Given the description of an element on the screen output the (x, y) to click on. 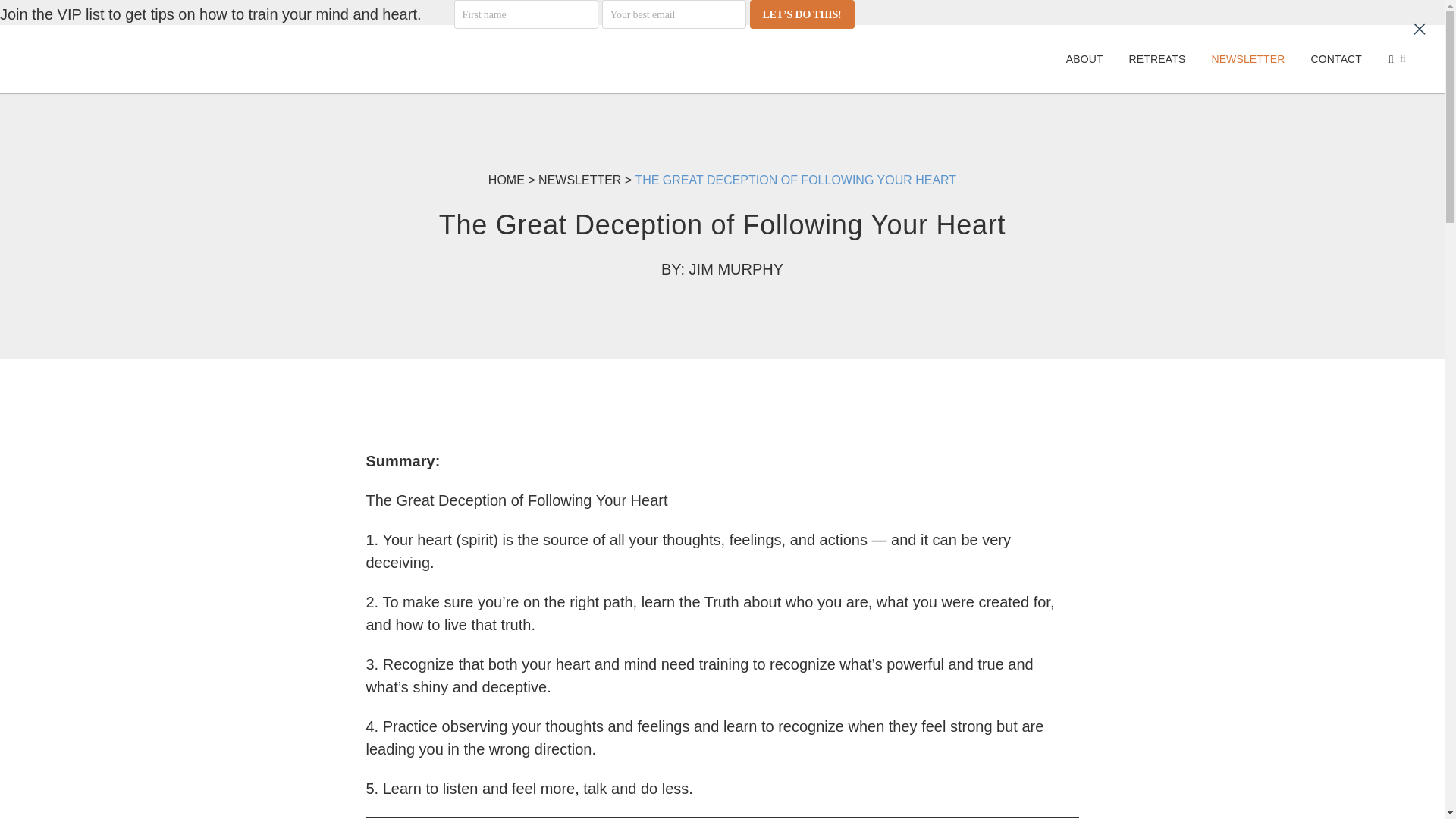
RETREATS (1157, 59)
NEWSLETTER (1247, 59)
NEWSLETTER (579, 179)
CONTACT (1335, 59)
ABOUT (1084, 59)
HOME (505, 179)
